Given the description of an element on the screen output the (x, y) to click on. 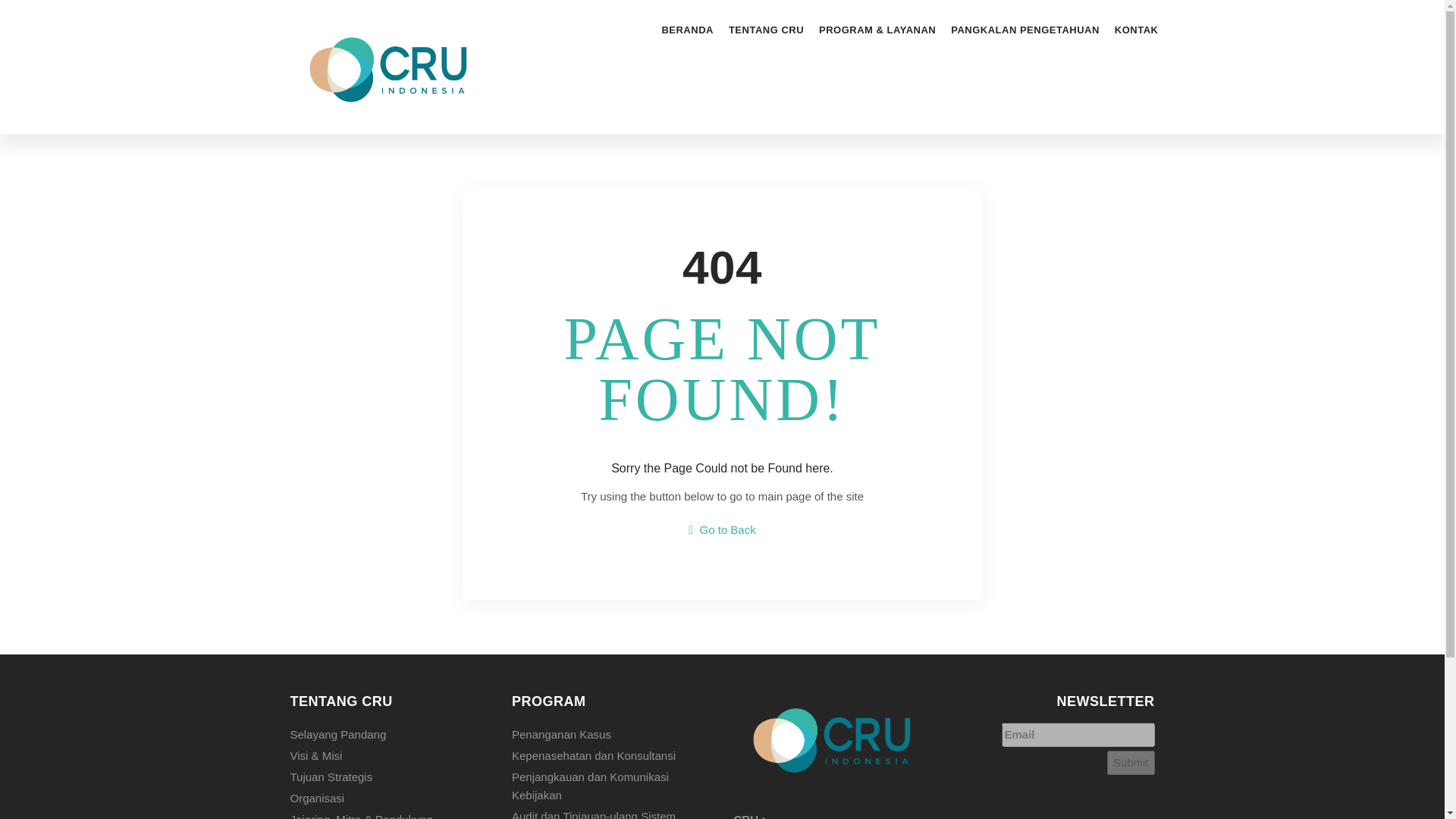
TENTANG CRU (765, 30)
Selayang Pandang (389, 732)
PANGKALAN PENGETAHUAN (1024, 30)
Penanganan Kasus (611, 732)
KONTAK (1136, 30)
Tujuan Strategis (389, 775)
Organisasi (389, 796)
  Go to Back (721, 529)
Submit (1130, 762)
BERANDA (686, 30)
